Given the description of an element on the screen output the (x, y) to click on. 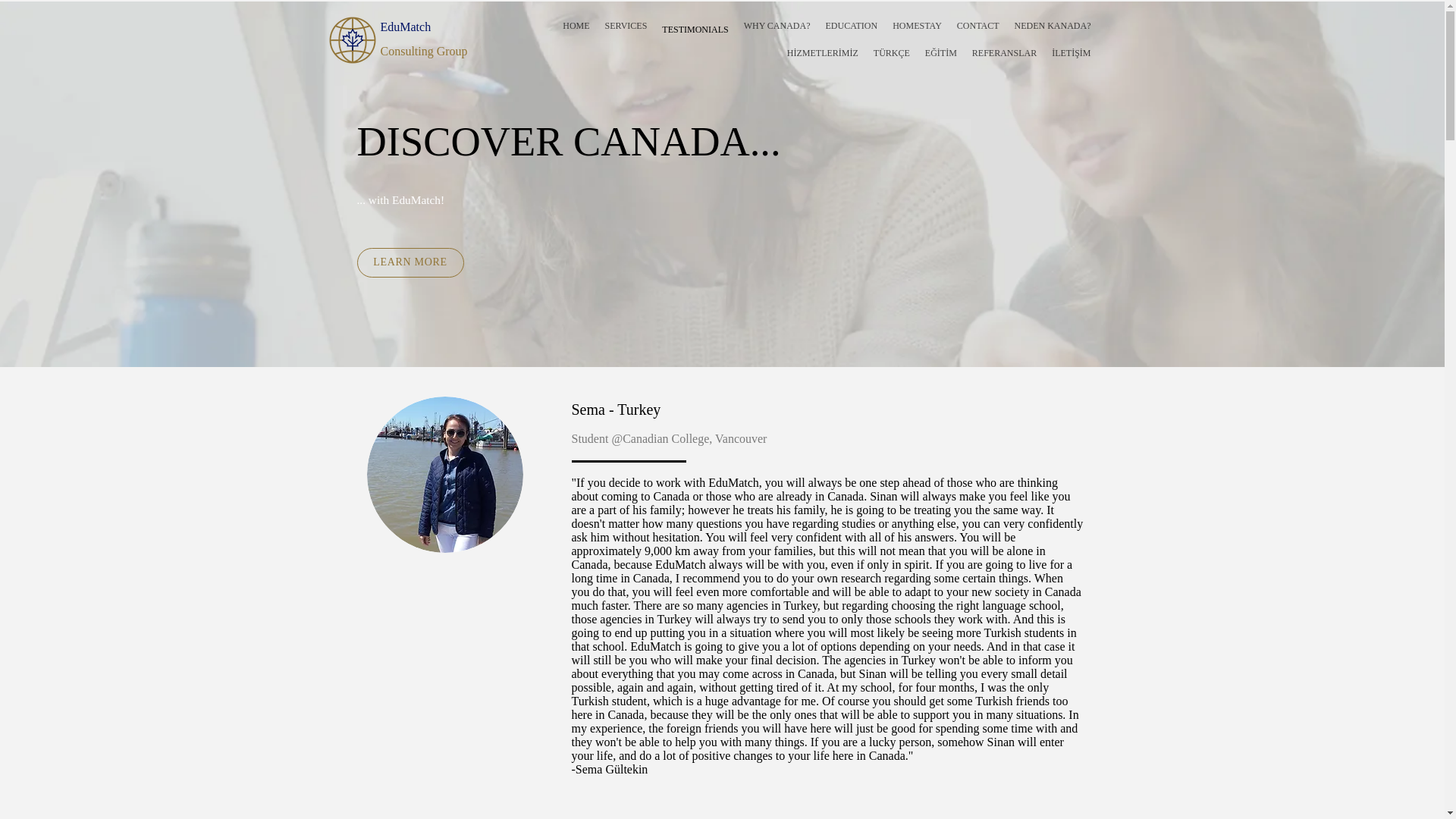
HOMESTAY (916, 25)
SERVICES (626, 25)
NEDEN KANADA? (1052, 25)
CONTACT (978, 25)
TESTIMONIALS (694, 29)
WHY CANADA? (777, 25)
HOME (575, 25)
EDUCATION (851, 25)
